Given the description of an element on the screen output the (x, y) to click on. 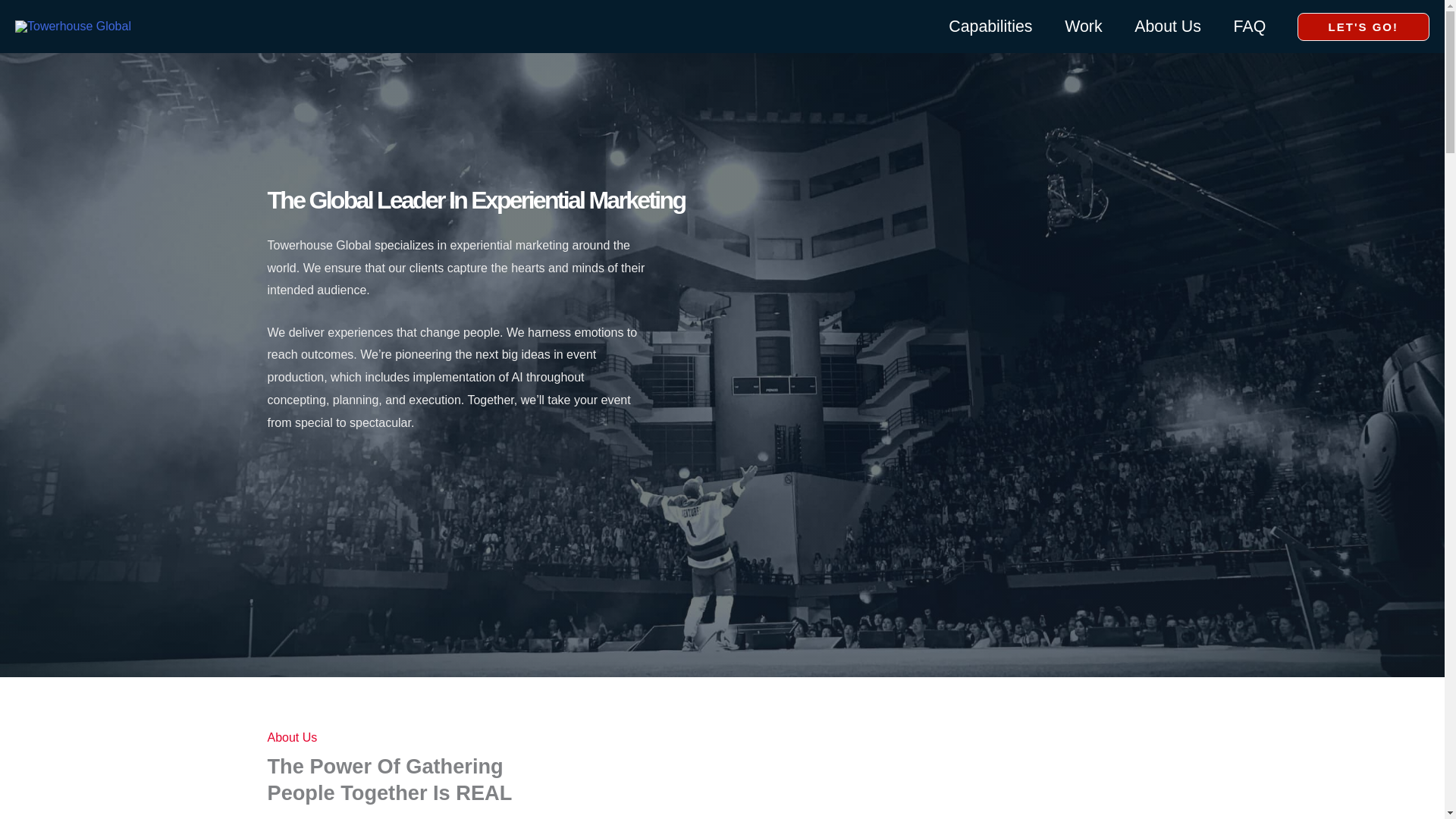
LET'S GO! (1363, 26)
Work (1083, 26)
Capabilities (990, 26)
About Us (1167, 26)
FAQ (1249, 26)
